Given the description of an element on the screen output the (x, y) to click on. 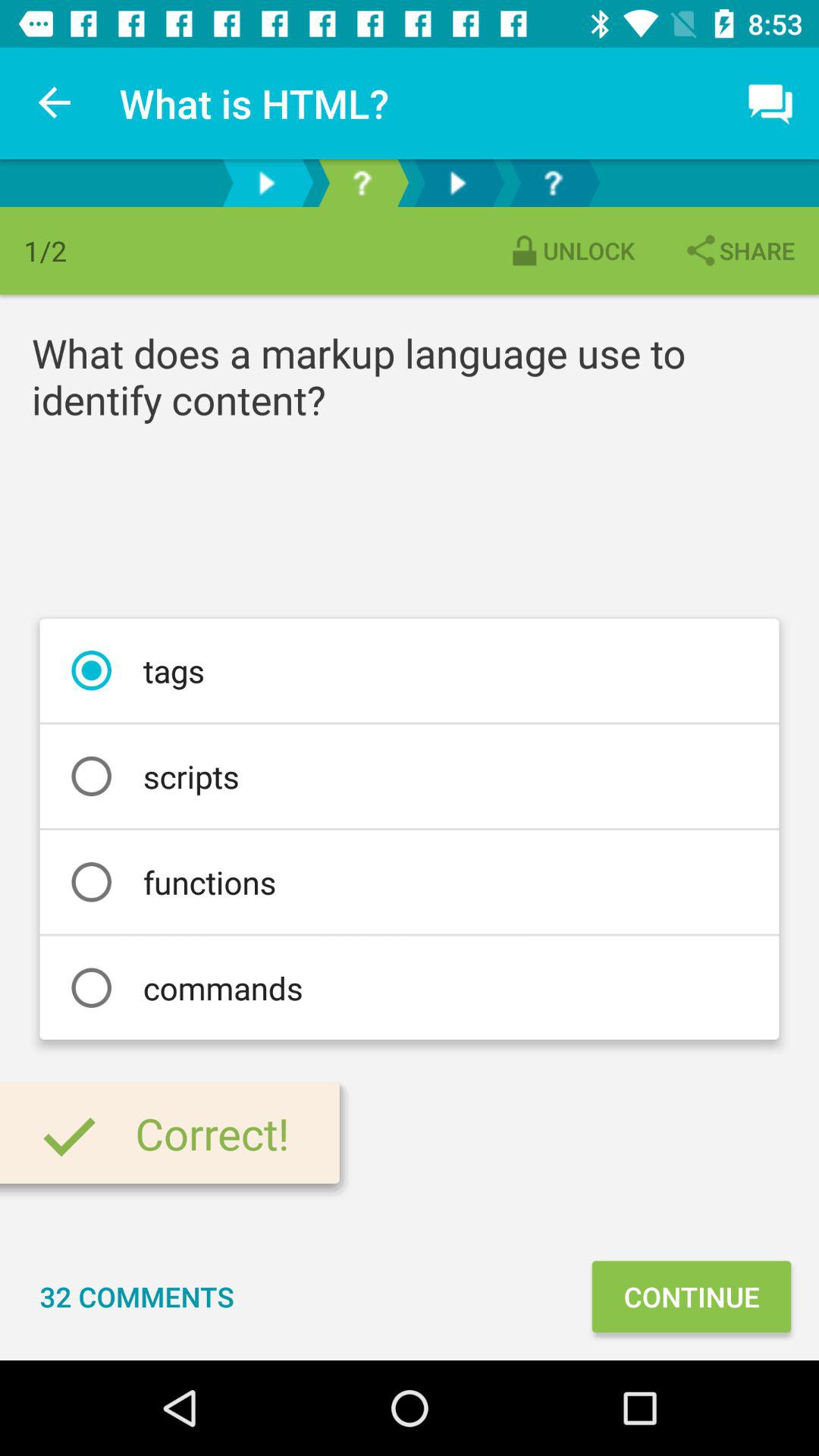
select the item to the right of the 32 comments (691, 1296)
